Given the description of an element on the screen output the (x, y) to click on. 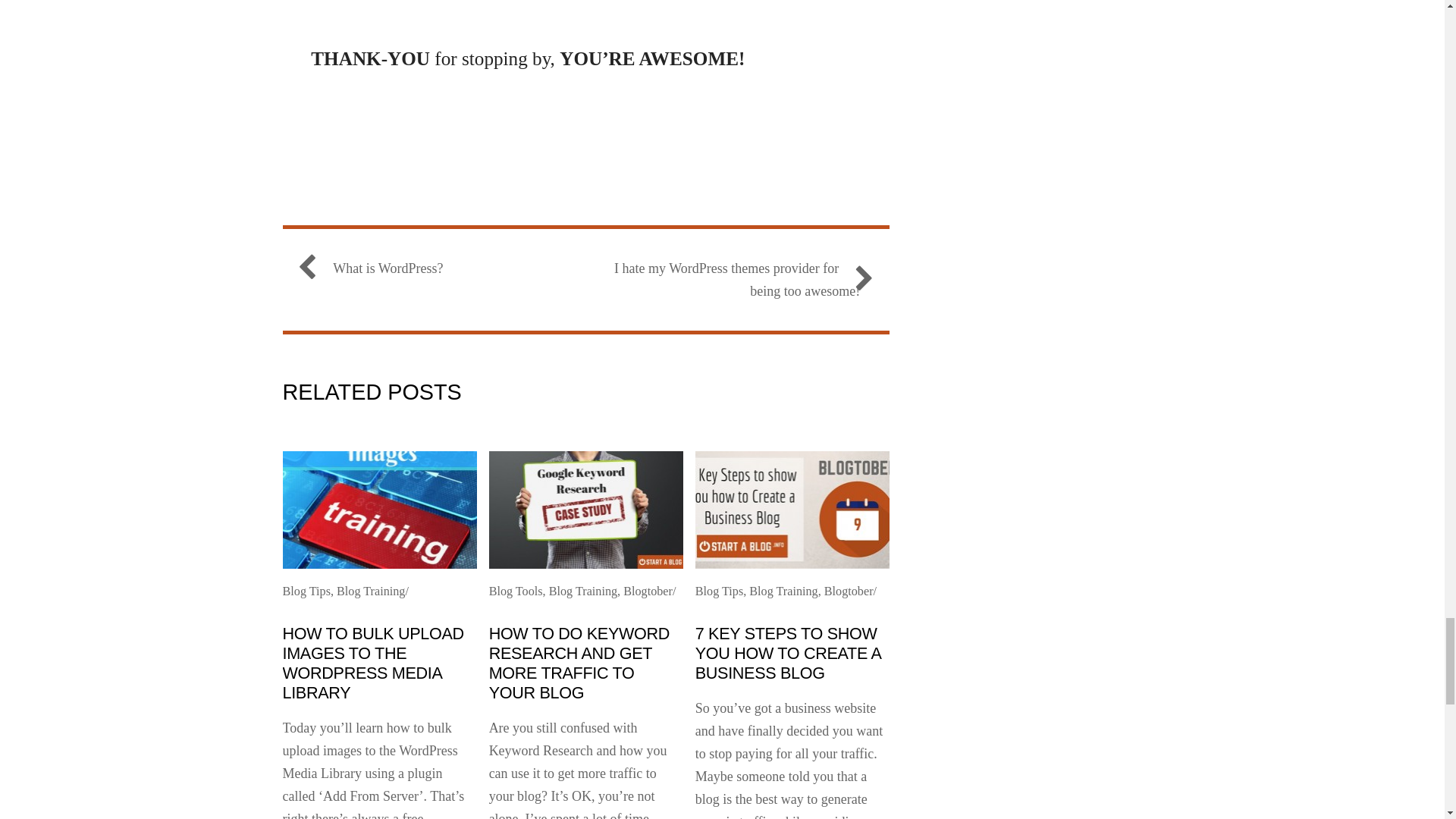
7 Key Steps to show you how to Create a Business Blog (787, 653)
How to do Keyword Research and get more traffic to your blog (579, 662)
How to Bulk Upload Images to the WordPress Media Library (372, 662)
